Given the description of an element on the screen output the (x, y) to click on. 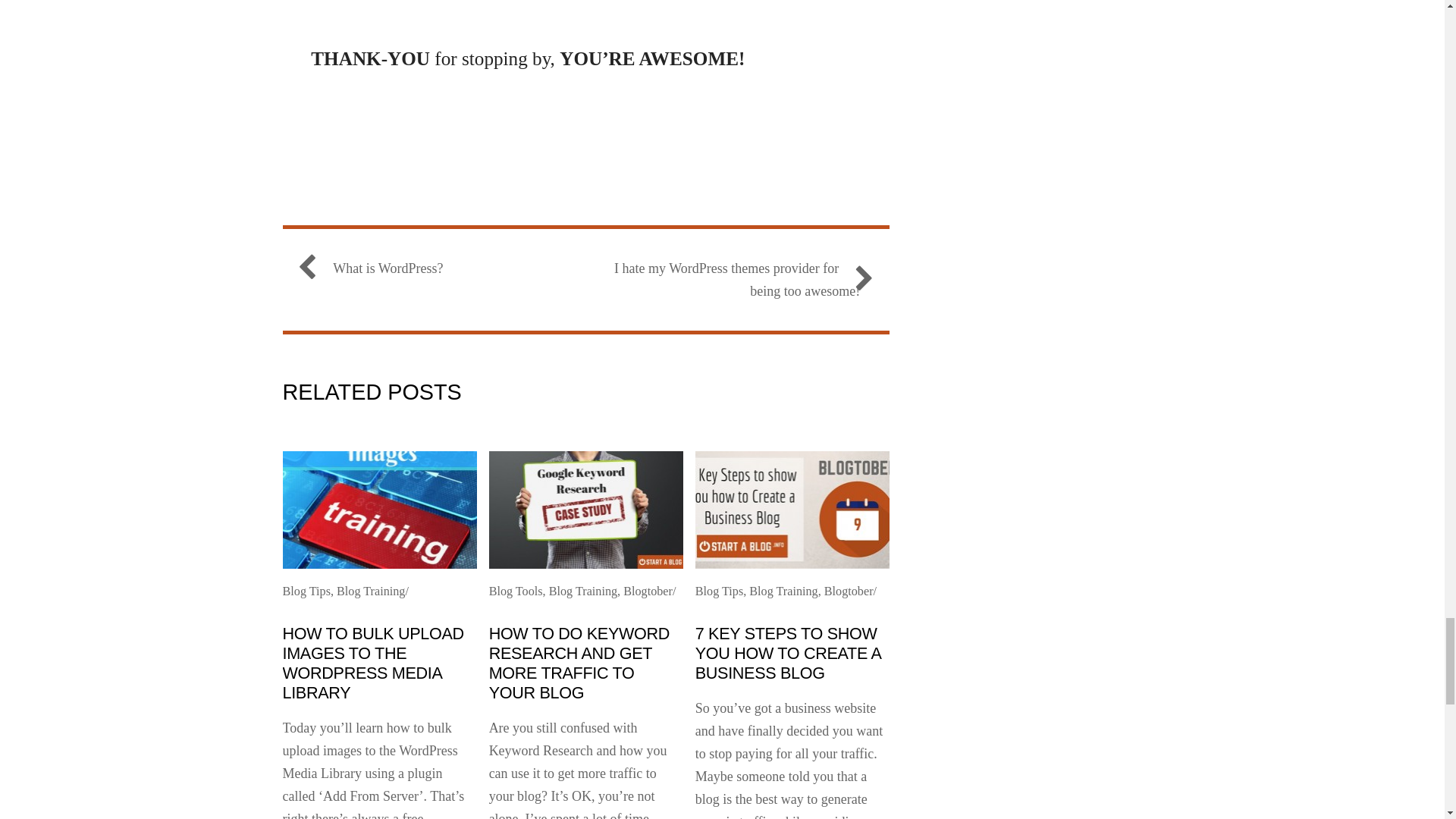
7 Key Steps to show you how to Create a Business Blog (787, 653)
How to do Keyword Research and get more traffic to your blog (579, 662)
How to Bulk Upload Images to the WordPress Media Library (372, 662)
